Given the description of an element on the screen output the (x, y) to click on. 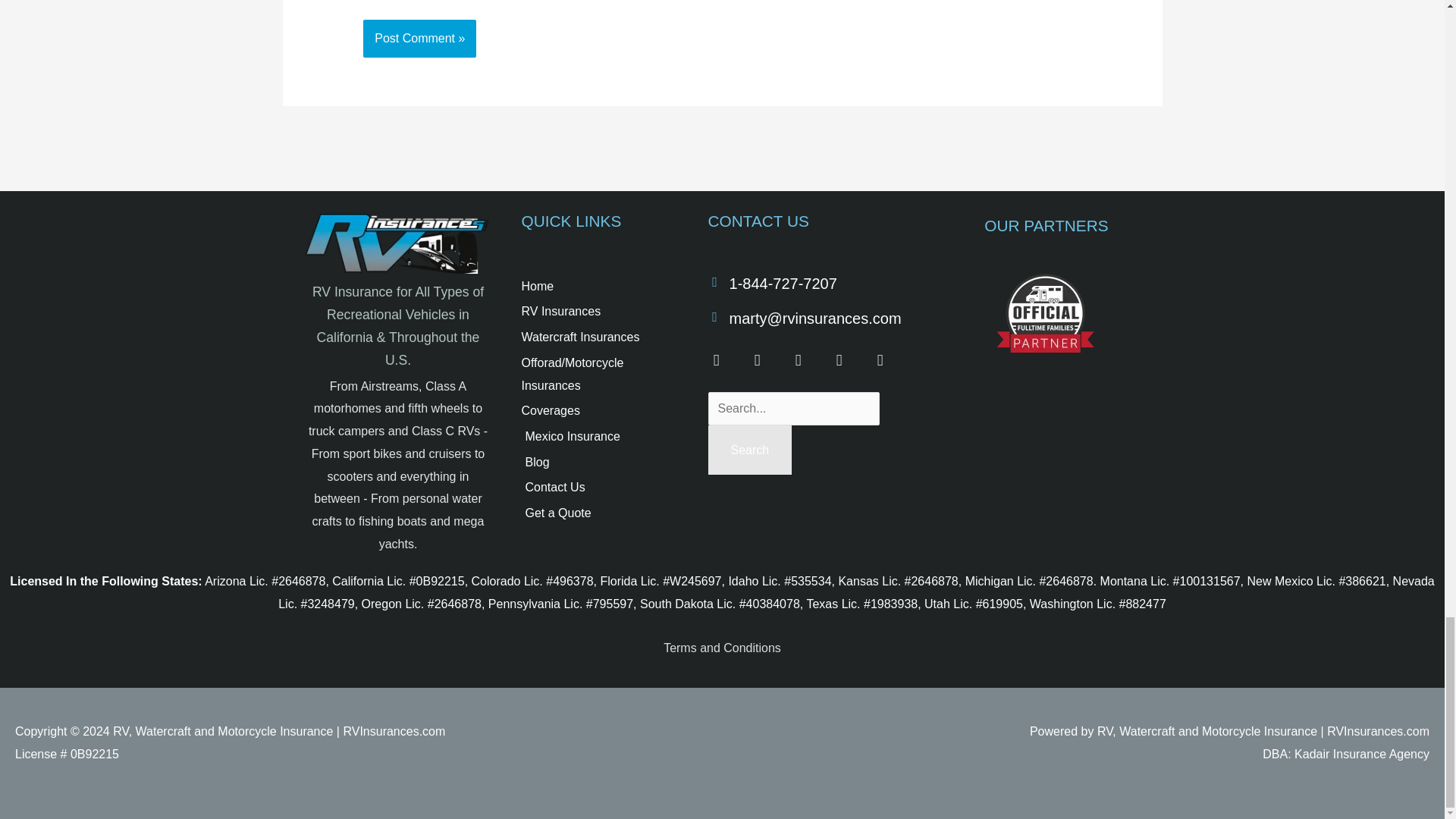
RV Insurances (599, 311)
Search (749, 450)
Search (749, 450)
Home (599, 286)
Watercraft Insurances (599, 336)
